Given the description of an element on the screen output the (x, y) to click on. 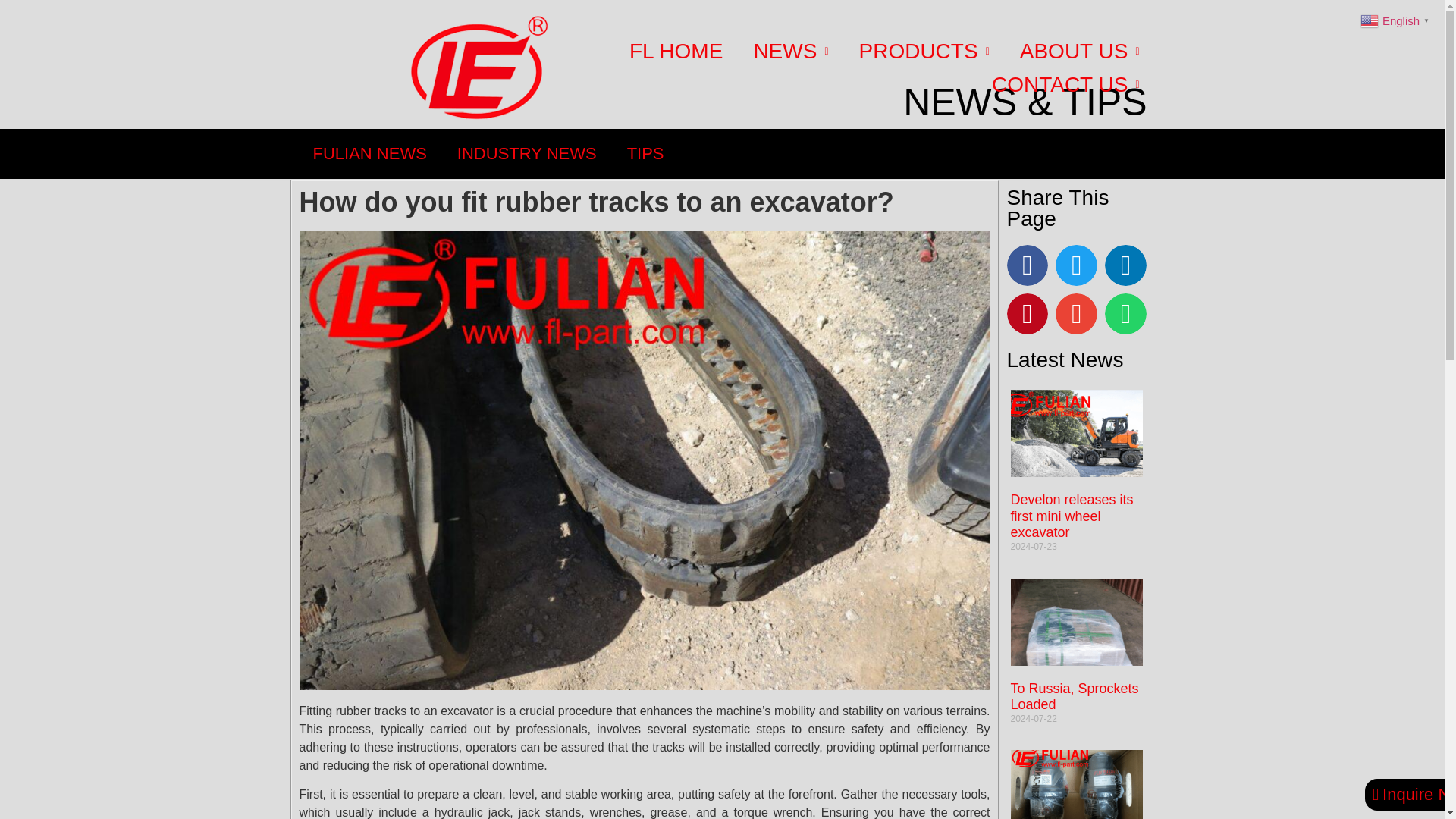
FL HOME (676, 51)
NEWS (790, 51)
PRODUCTS (923, 51)
ABOUT US (1079, 51)
